Given the description of an element on the screen output the (x, y) to click on. 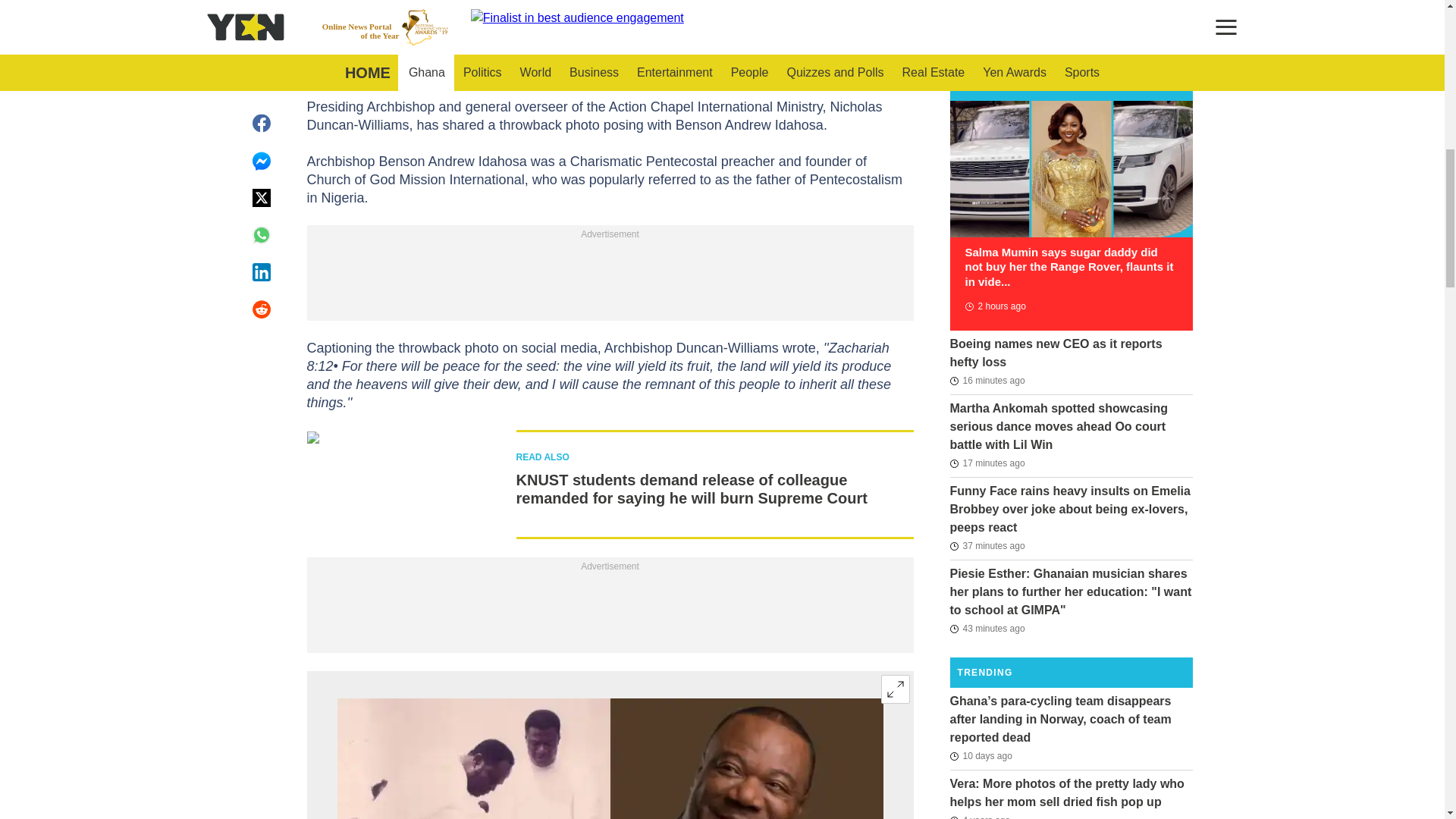
2024-07-31T13:22:03Z (987, 380)
2024-07-31T13:21:12Z (987, 463)
2024-07-31T12:54:54Z (987, 628)
2024-07-20T19:05:14Z (980, 755)
2019-10-21T17:41:08Z (979, 815)
Expand image (895, 688)
2024-07-31T13:00:23Z (987, 546)
2024-07-31T10:44:13Z (994, 306)
